Given the description of an element on the screen output the (x, y) to click on. 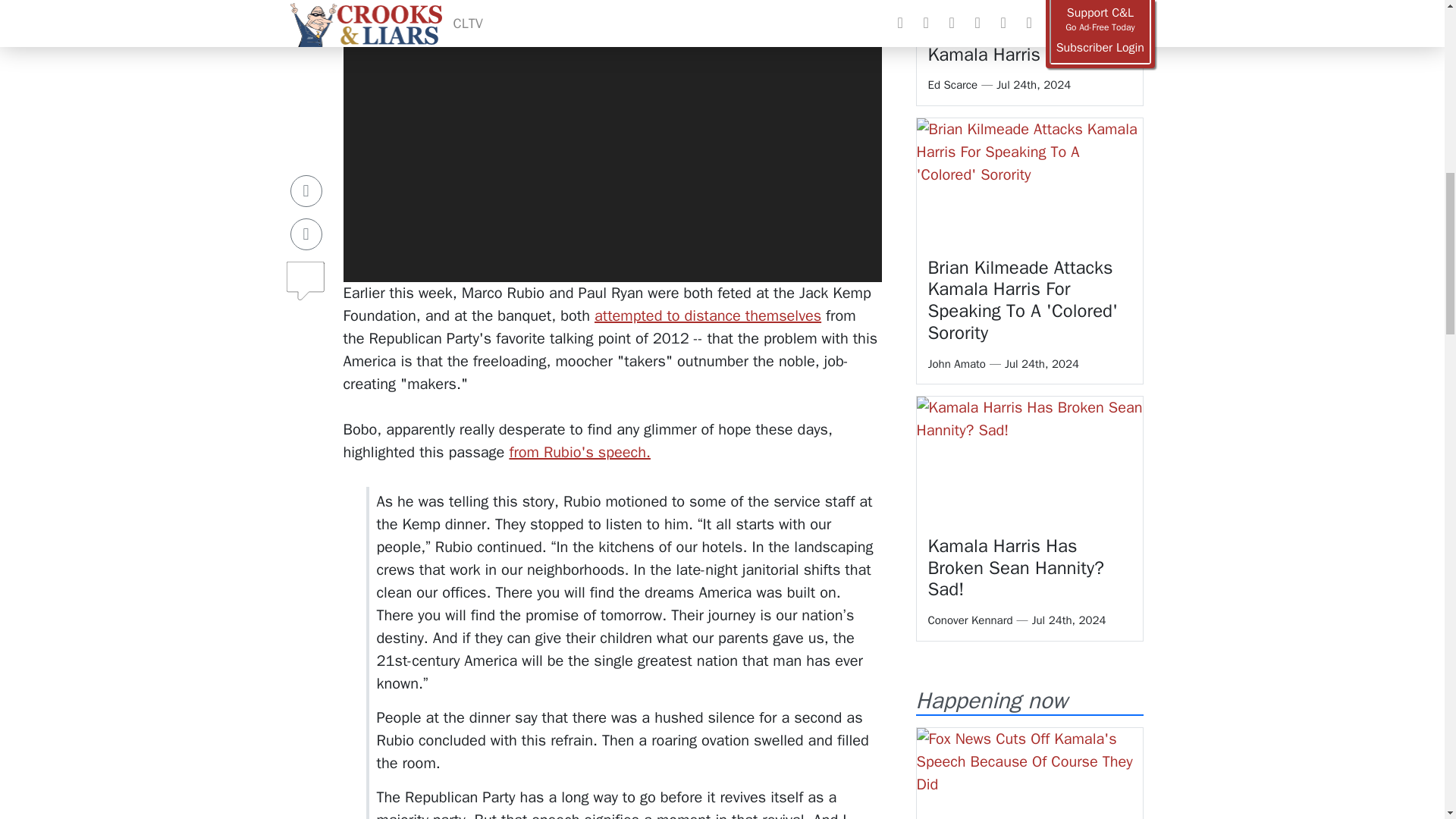
from Rubio's speech. (579, 452)
attempted to distance themselves (707, 315)
